Given the description of an element on the screen output the (x, y) to click on. 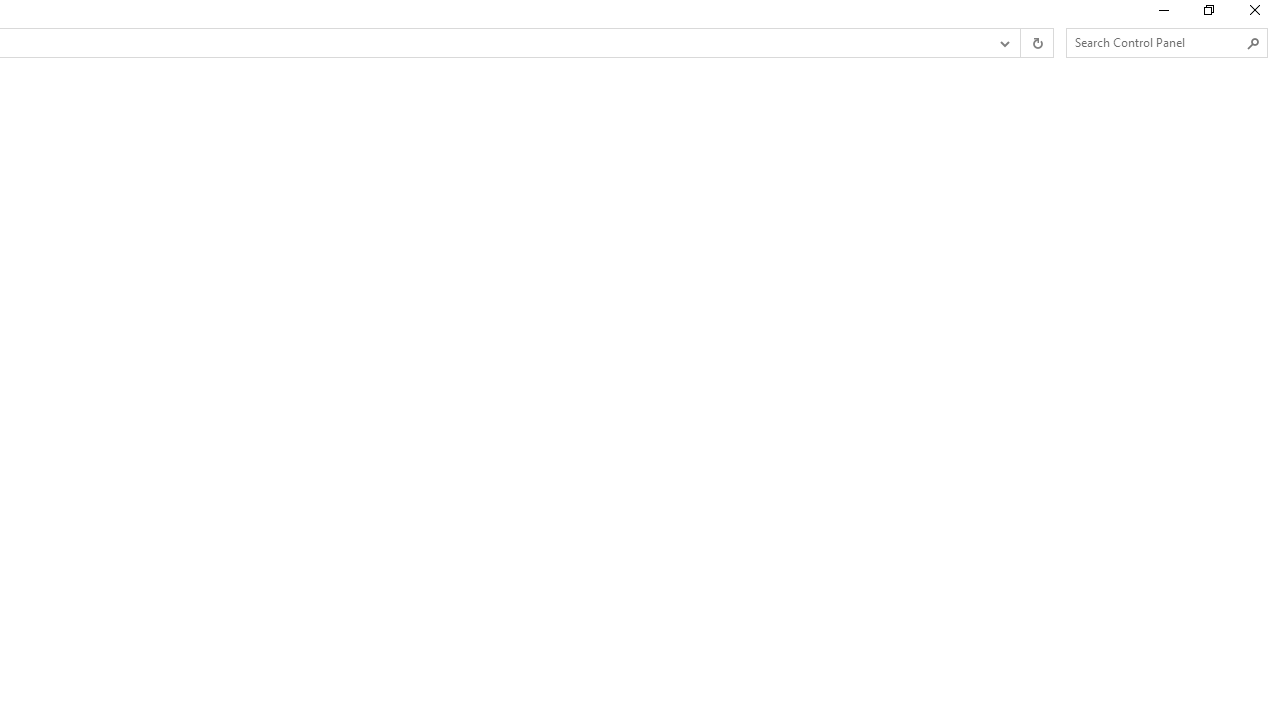
Search (1253, 43)
Minimize (1162, 14)
Address band toolbar (1019, 43)
Previous Locations (1003, 43)
Search Box (1156, 42)
Restore (1208, 14)
Refresh "Network and Sharing Center" (F5) (1036, 43)
